Given the description of an element on the screen output the (x, y) to click on. 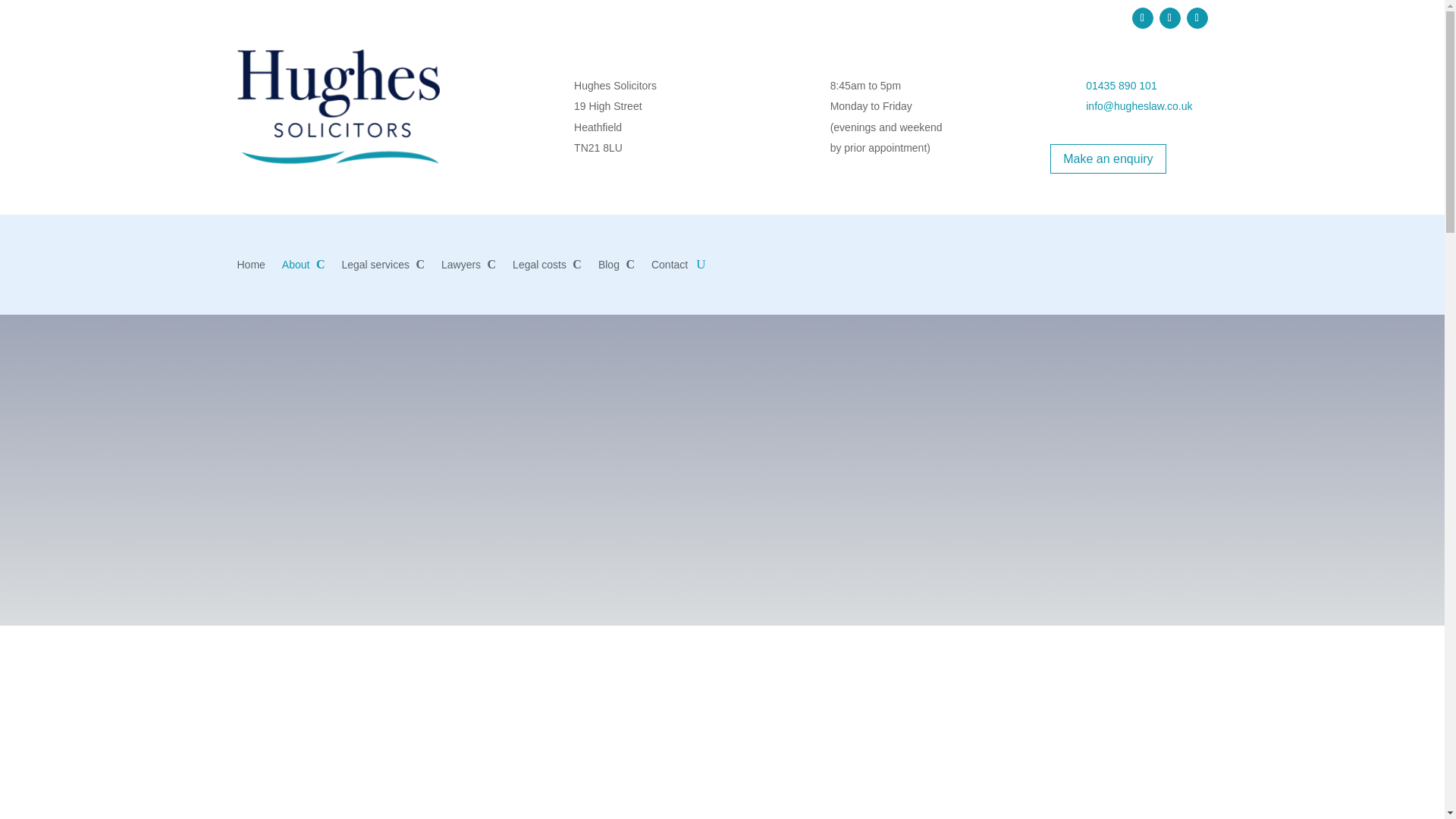
Follow on Facebook (1142, 17)
Follow on LinkedIn (1196, 17)
Follow on Twitter (1168, 17)
